Given the description of an element on the screen output the (x, y) to click on. 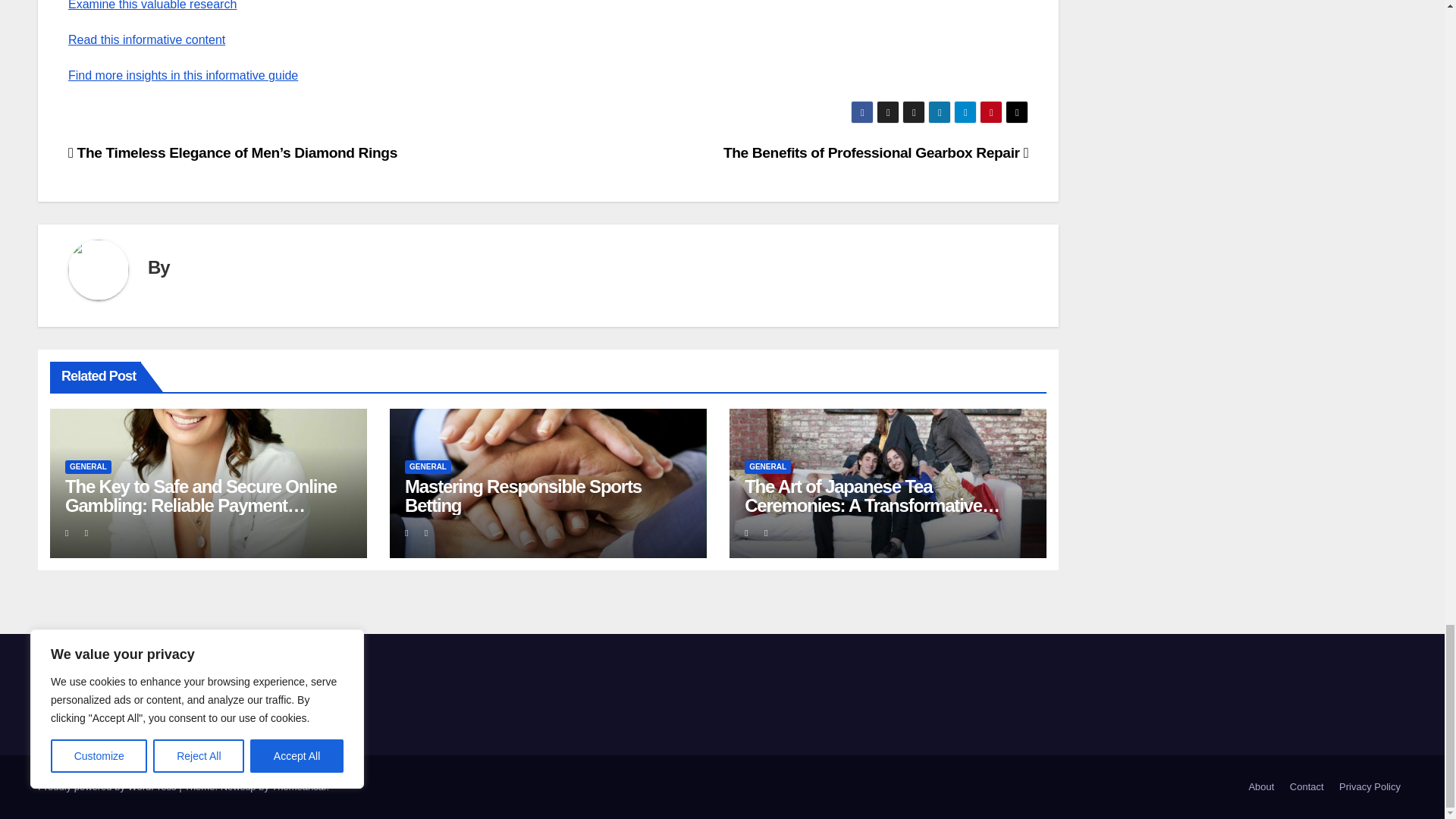
About (1260, 786)
Contact (1307, 786)
Examine this valuable research (151, 5)
Find more insights in this informative guide (183, 74)
Privacy Policy (1369, 786)
Read this informative content (146, 39)
Permalink to: Mastering Responsible Sports Betting (523, 495)
